Given the description of an element on the screen output the (x, y) to click on. 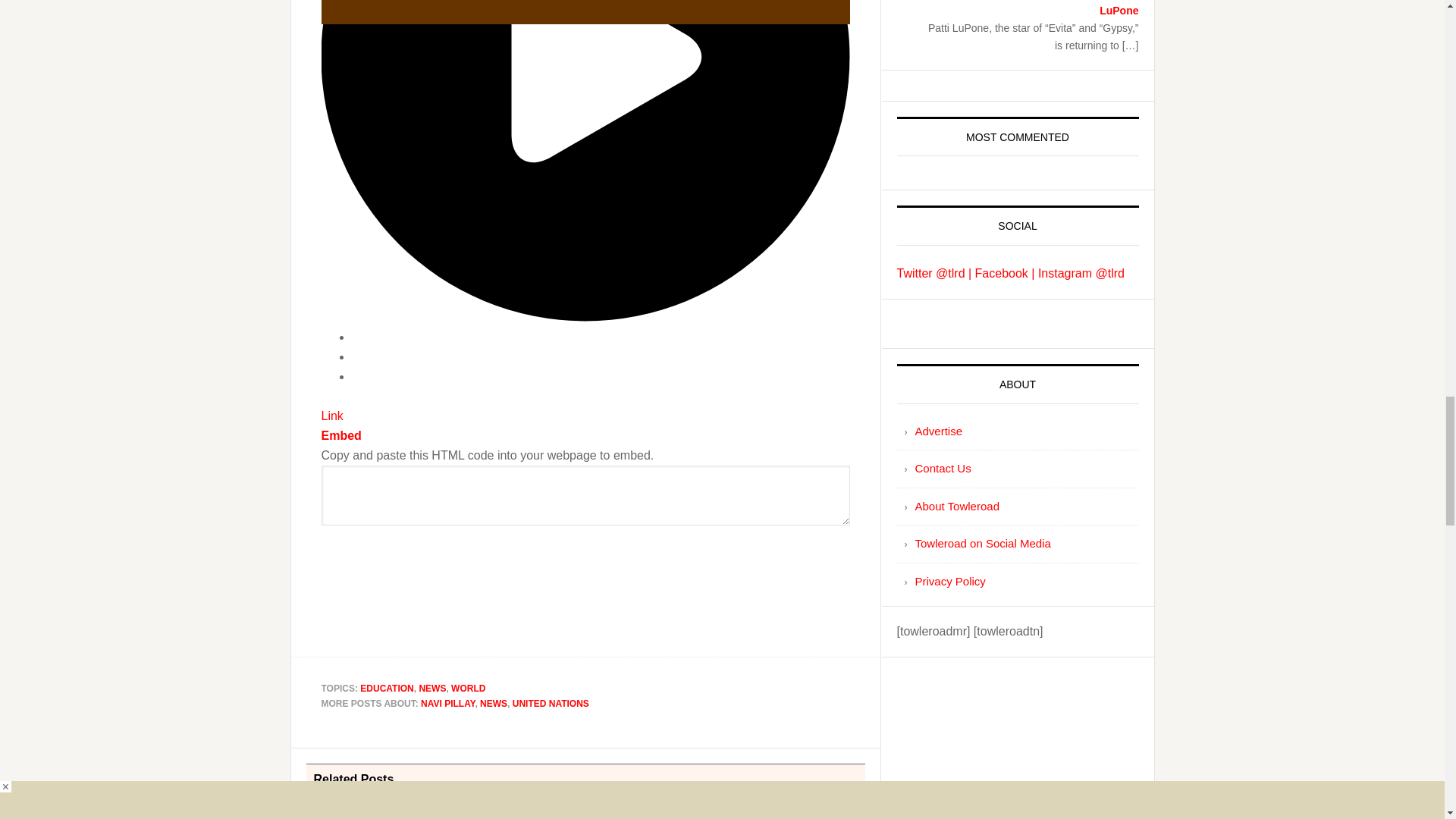
EDUCATION (386, 688)
Link (332, 415)
Embed (341, 435)
